Given the description of an element on the screen output the (x, y) to click on. 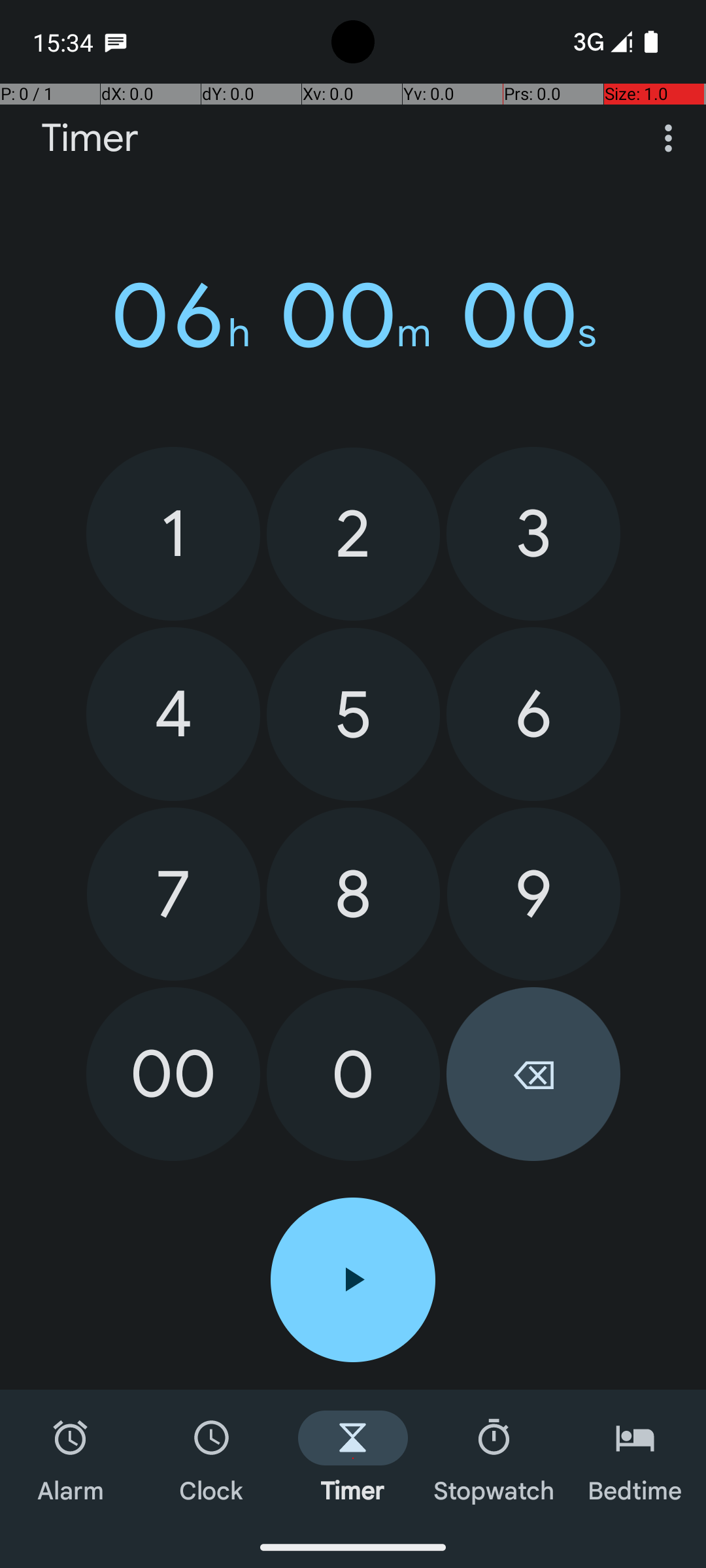
06h 00m 00s Element type: android.widget.TextView (353, 315)
